Given the description of an element on the screen output the (x, y) to click on. 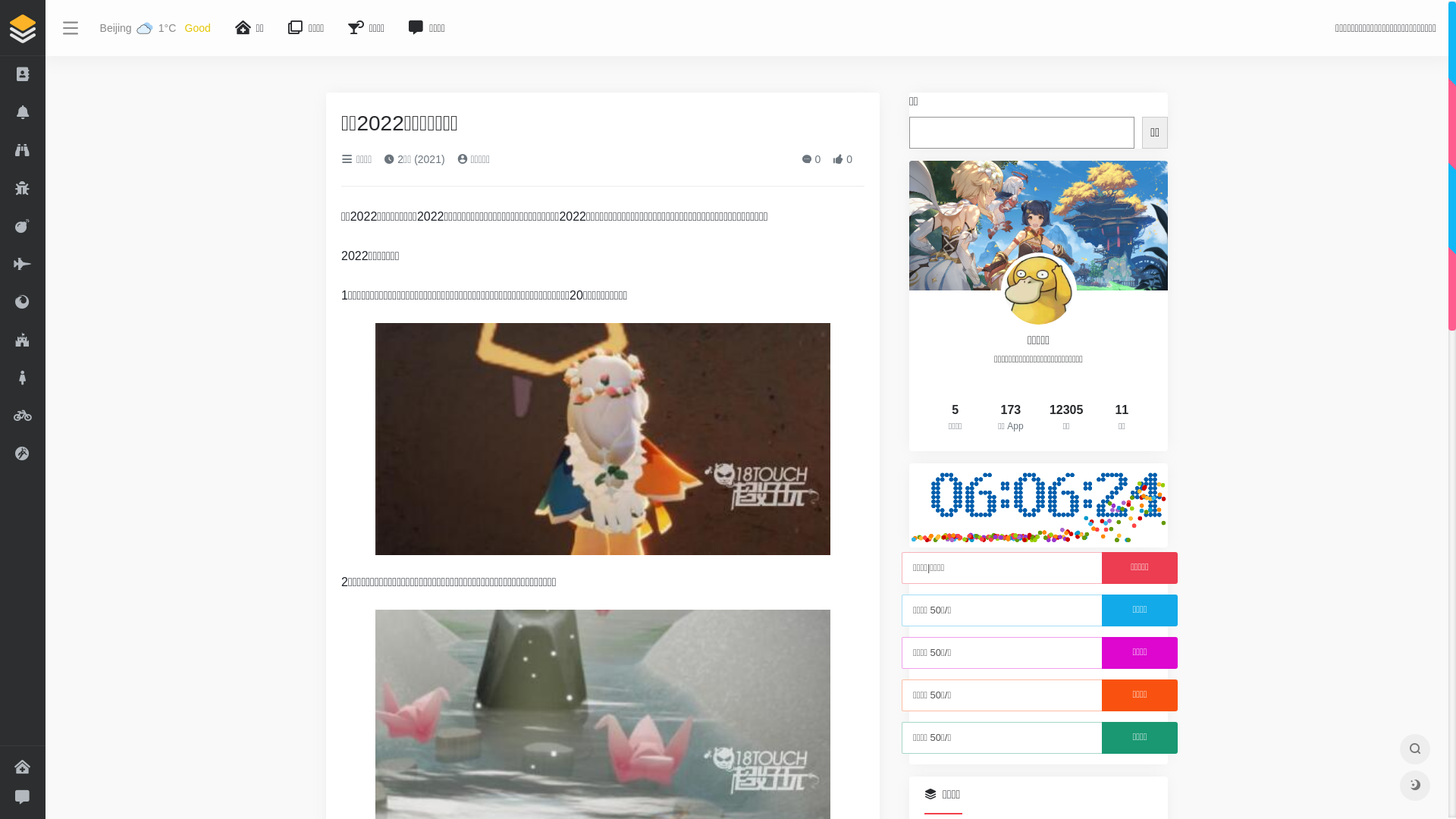
0 Element type: text (842, 159)
0 Element type: text (811, 159)
